Given the description of an element on the screen output the (x, y) to click on. 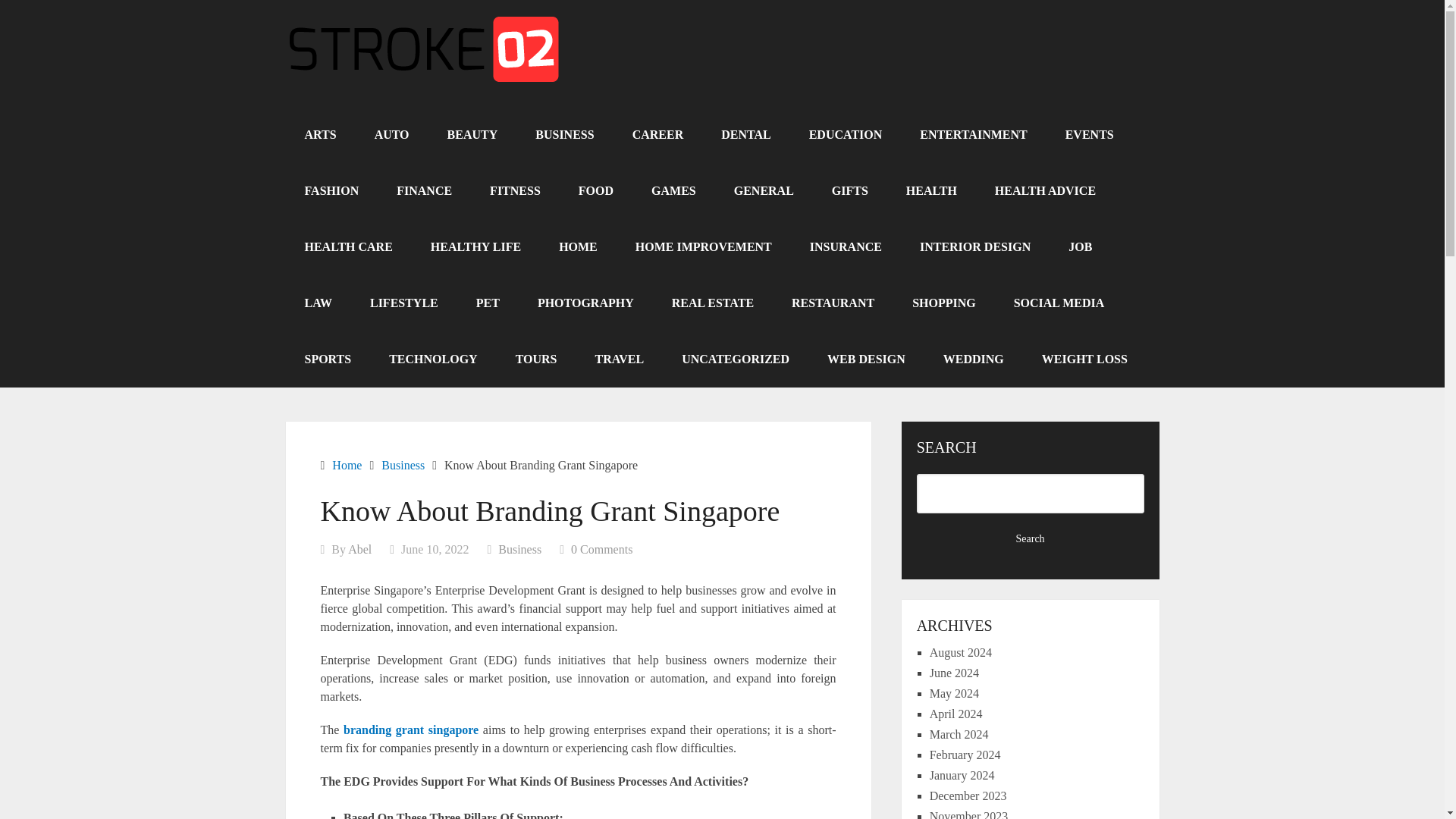
Posts by Abel (359, 549)
LIFESTYLE (403, 303)
HEALTH (930, 190)
LAW (317, 303)
INTERIOR DESIGN (975, 247)
DENTAL (745, 134)
CAREER (657, 134)
TRAVEL (619, 359)
ARTS (320, 134)
HEALTHY LIFE (476, 247)
